Given the description of an element on the screen output the (x, y) to click on. 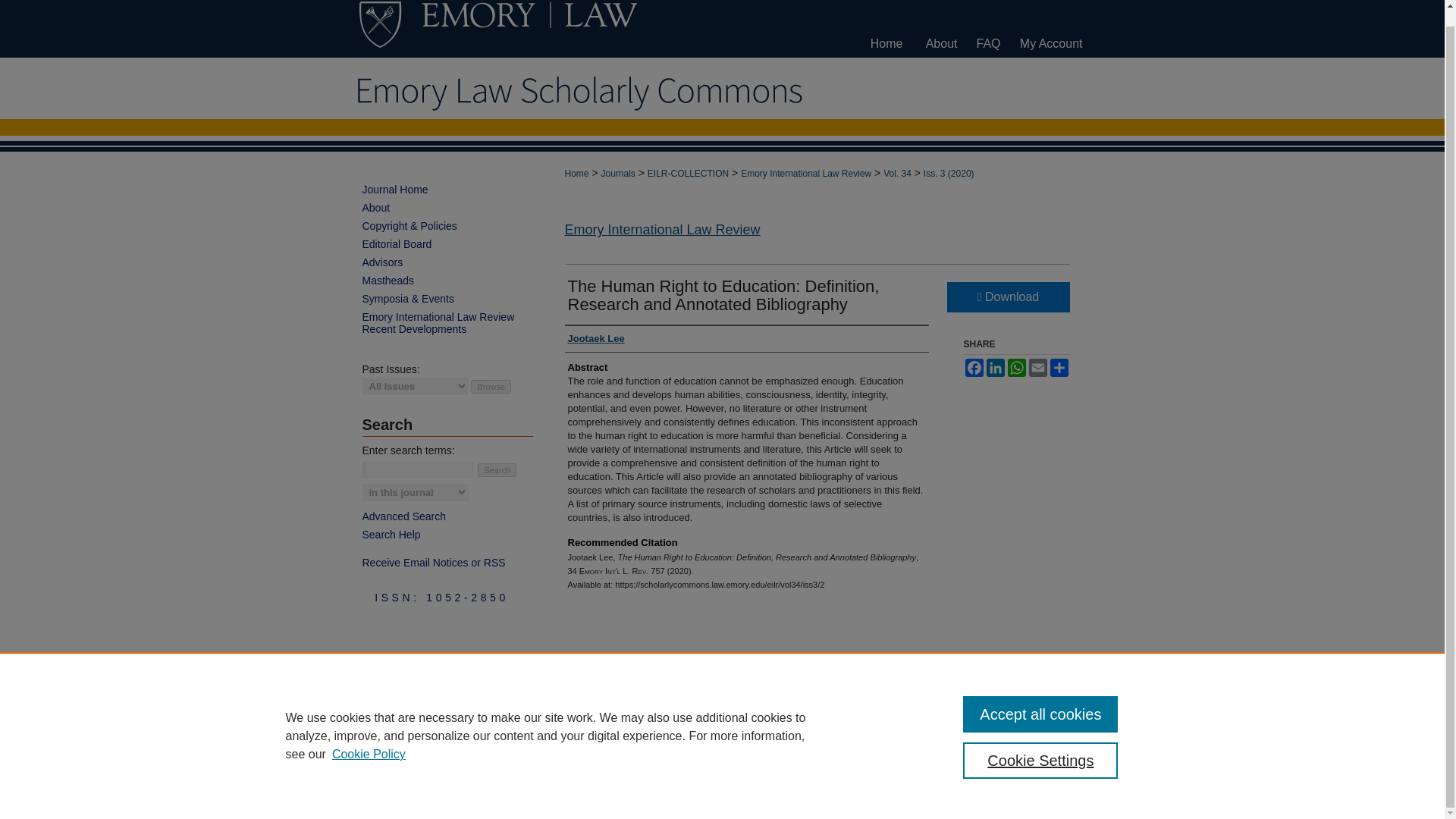
Emory International Law Review (662, 229)
Facebook (973, 367)
Emory International Law Review (805, 173)
Email (1037, 367)
EILR-COLLECTION (688, 173)
Browse (490, 386)
Editorial Board (447, 244)
About (941, 28)
Jootaek Lee (595, 338)
Home (886, 28)
About (447, 207)
Journals (616, 173)
Search (496, 469)
Journal Home (447, 189)
Share (1058, 367)
